Given the description of an element on the screen output the (x, y) to click on. 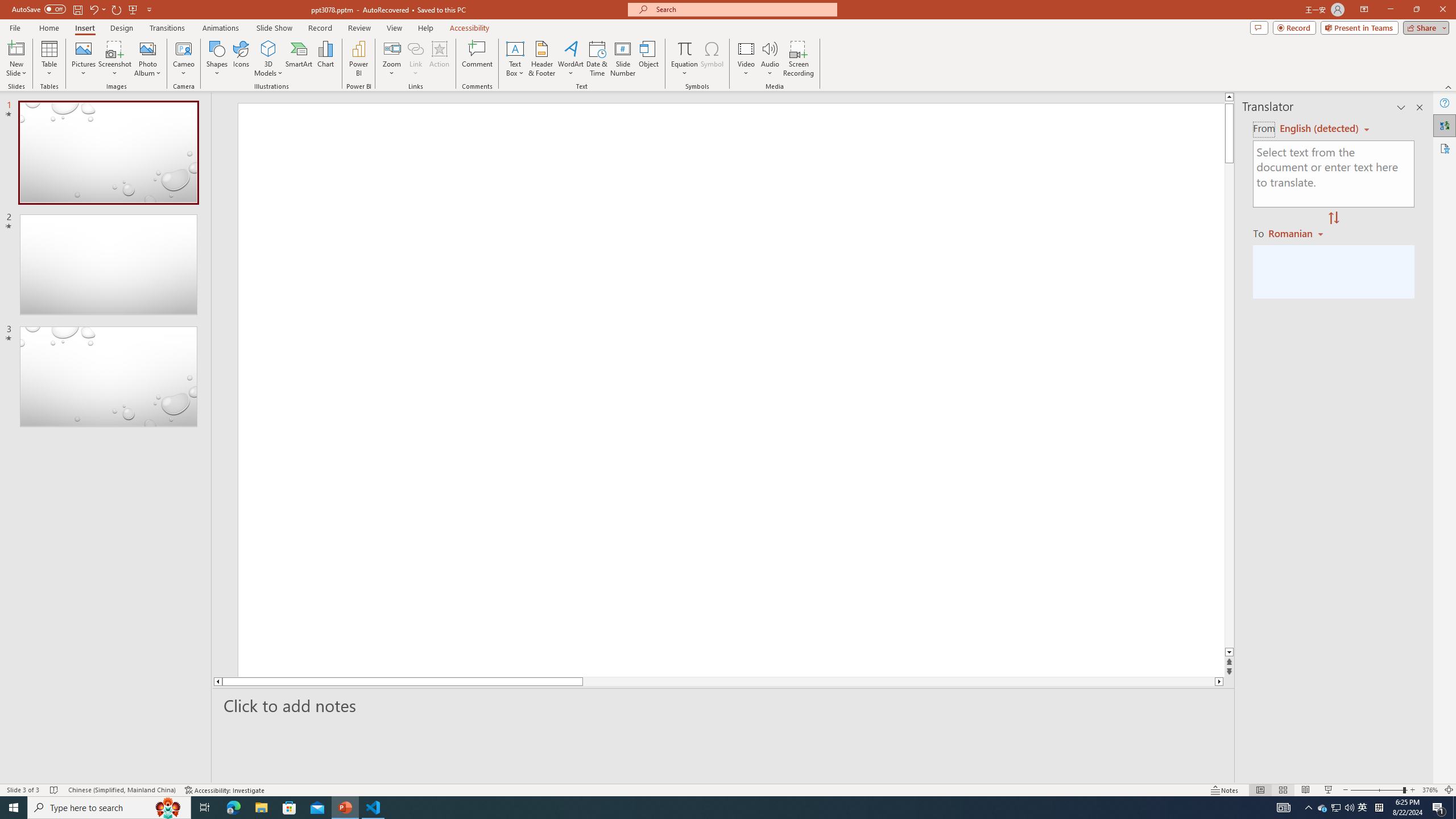
Comment (476, 58)
Date & Time... (596, 58)
Power BI (358, 58)
